Given the description of an element on the screen output the (x, y) to click on. 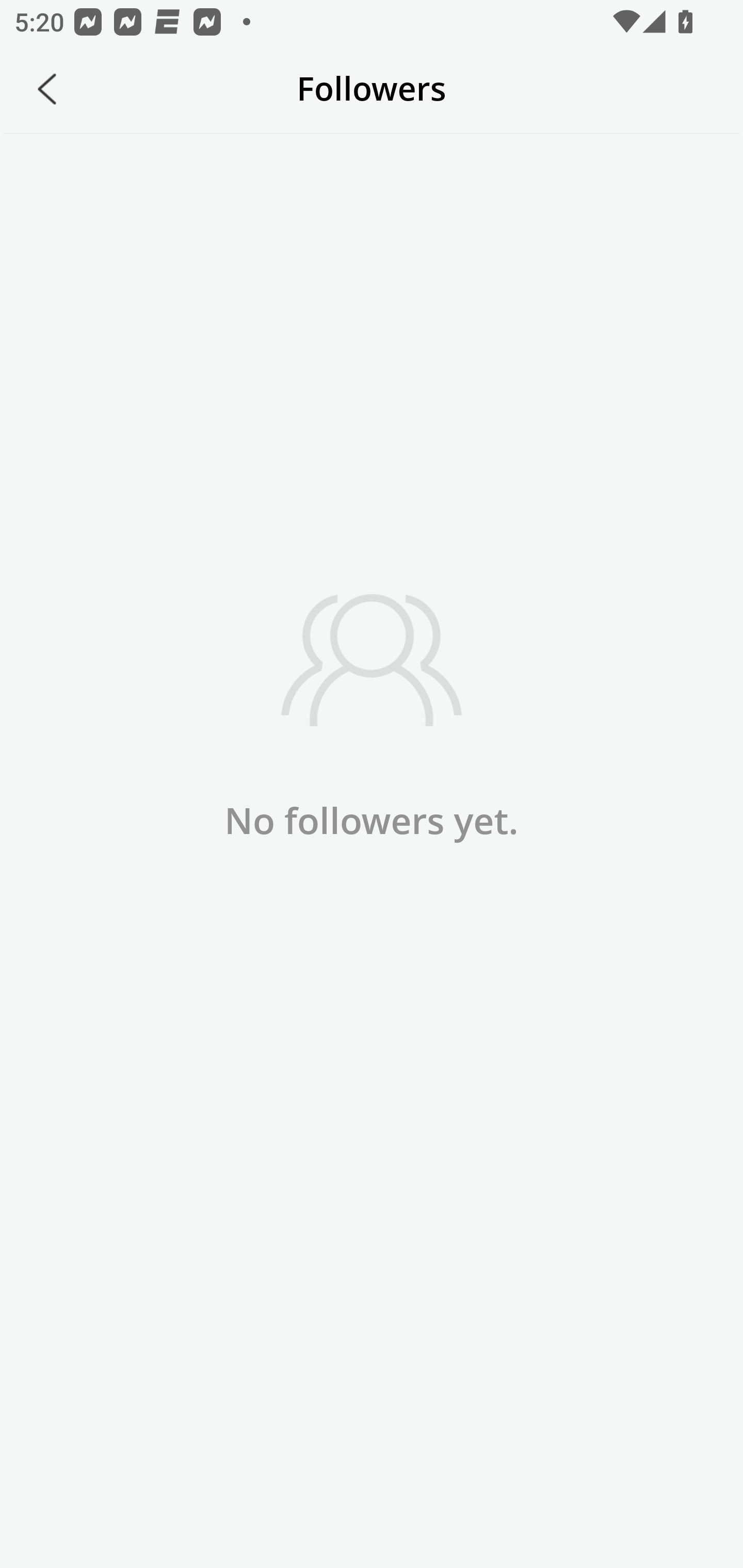
Back (46, 88)
